Given the description of an element on the screen output the (x, y) to click on. 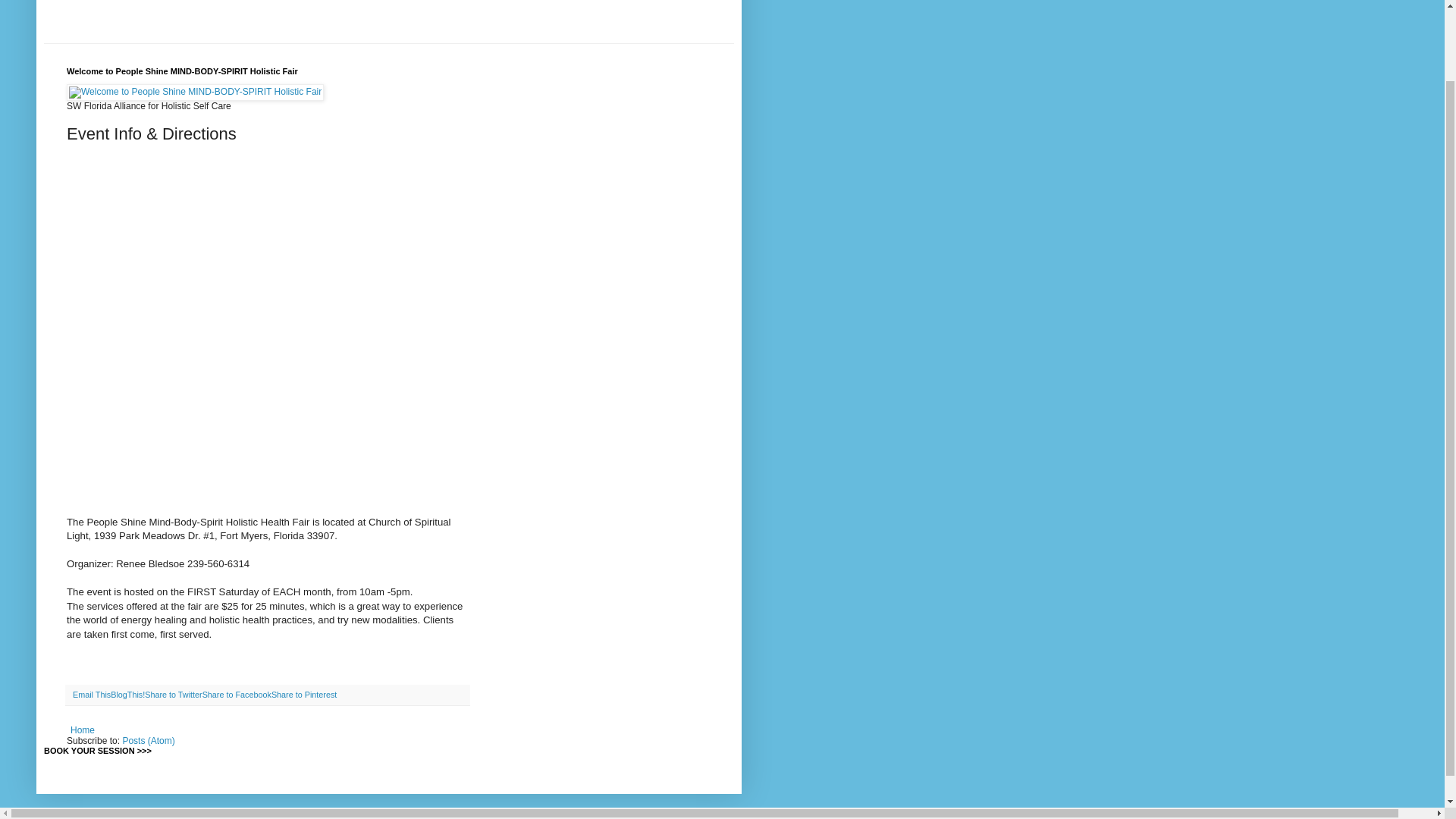
Email This (91, 694)
Share to Facebook (236, 694)
BlogThis! (127, 694)
Share to Facebook (236, 694)
Share to Twitter (173, 694)
Share to Twitter (173, 694)
Email This (91, 694)
Share to Pinterest (303, 694)
BlogThis! (127, 694)
Home (82, 730)
Share to Pinterest (303, 694)
